Given the description of an element on the screen output the (x, y) to click on. 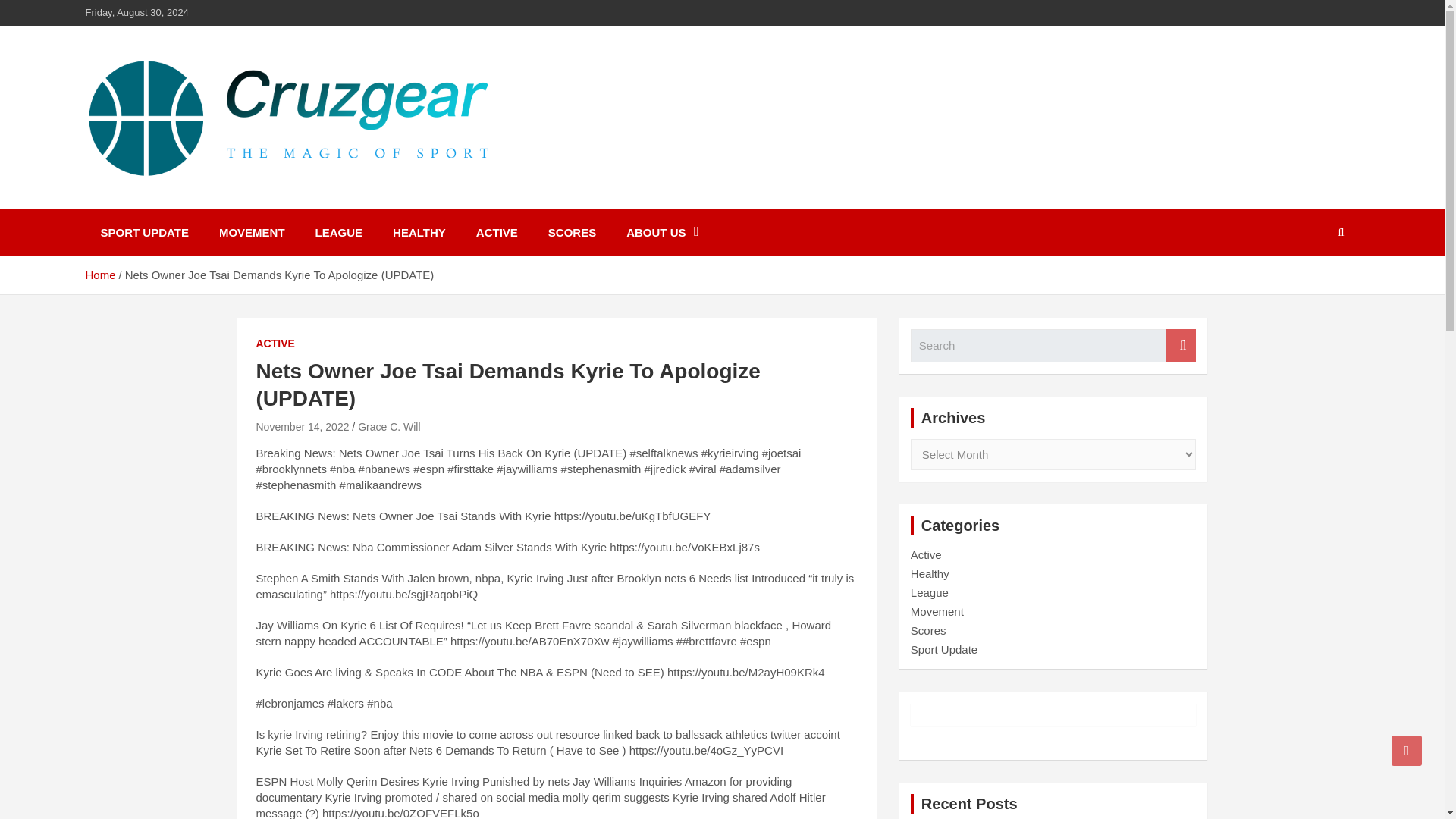
Healthy (930, 573)
Scores (928, 630)
ACTIVE (496, 232)
Cruzgear (149, 198)
ABOUT US (662, 232)
November 14, 2022 (302, 426)
Movement (937, 611)
SPORT UPDATE (143, 232)
Grace C. Will (389, 426)
Active (926, 554)
